Given the description of an element on the screen output the (x, y) to click on. 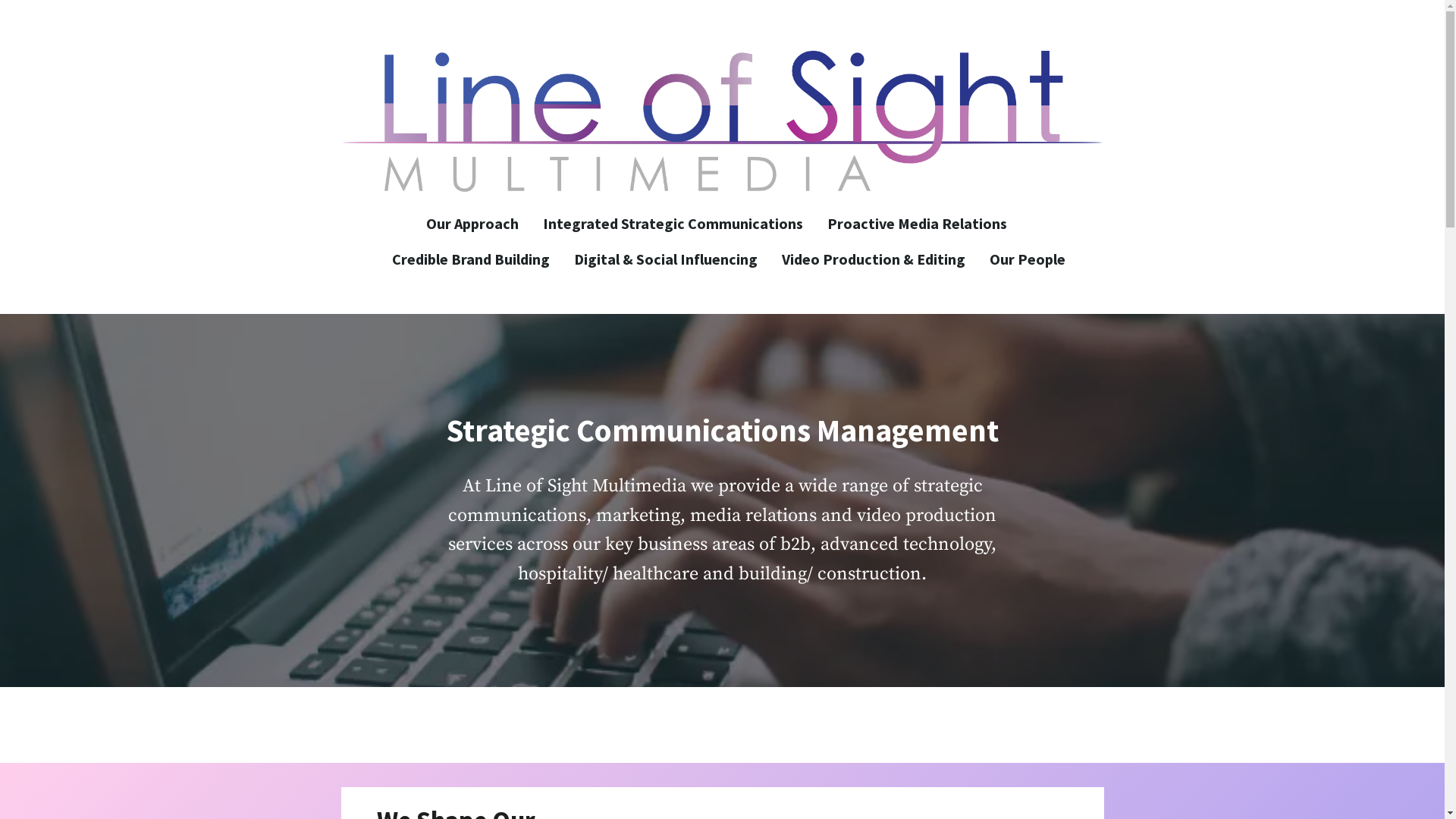
Video Production & Editing Element type: text (872, 258)
Proactive Media Relations Element type: text (916, 223)
Digital & Social Influencing Element type: text (664, 258)
Our Approach Element type: text (478, 223)
Credible Brand Building Element type: text (470, 258)
Our People Element type: text (1020, 258)
Integrated Strategic Communications Element type: text (672, 223)
